Given the description of an element on the screen output the (x, y) to click on. 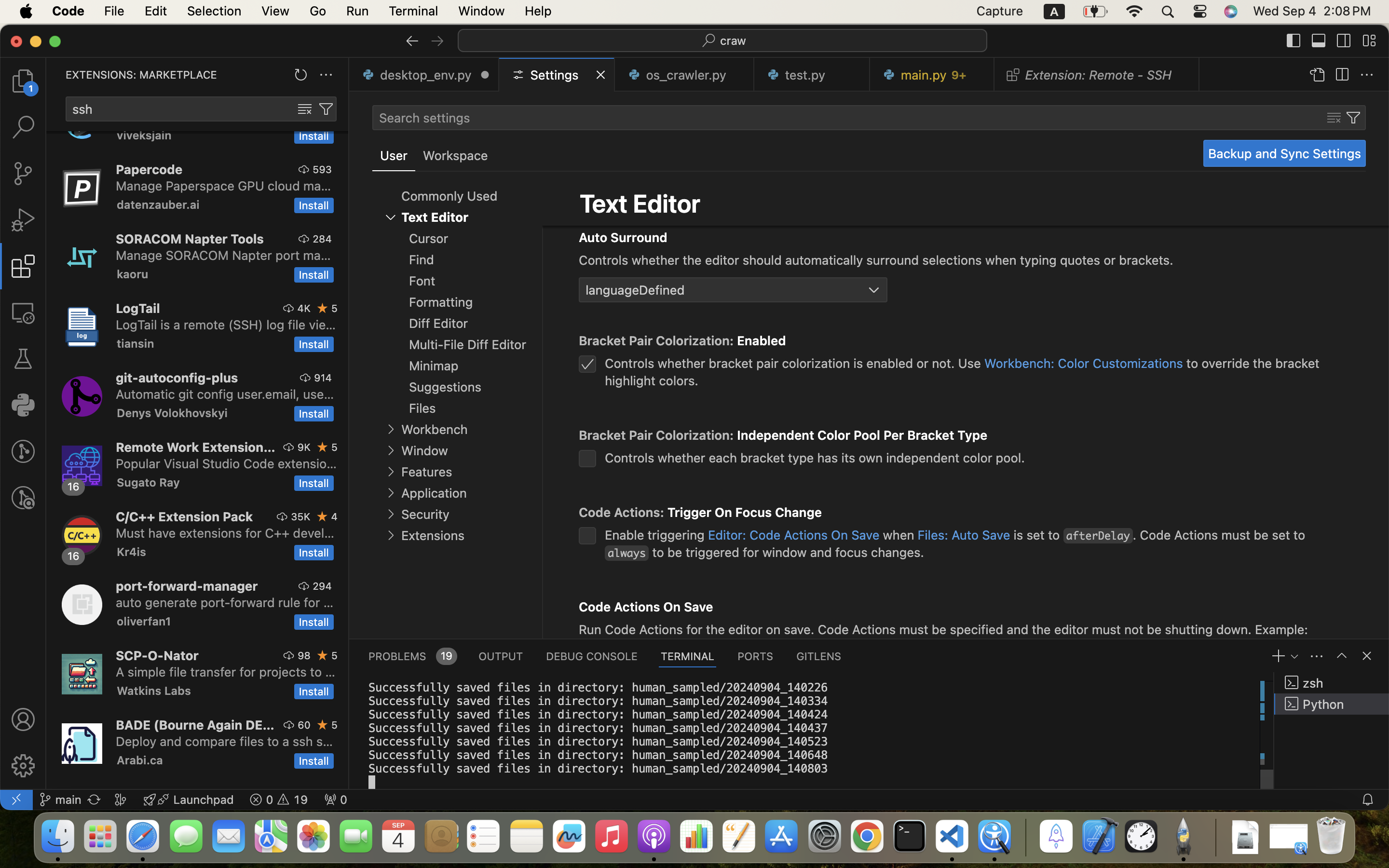
Files Element type: AXStaticText (421, 408)
LogTail is a remote (SSH) log file viewer and monitoring extension. Element type: AXStaticText (225, 324)
1 TERMINAL Element type: AXRadioButton (687, 655)
Search settings Element type: AXStaticText (424, 117)
 Element type: AXButton (1366, 655)
